Given the description of an element on the screen output the (x, y) to click on. 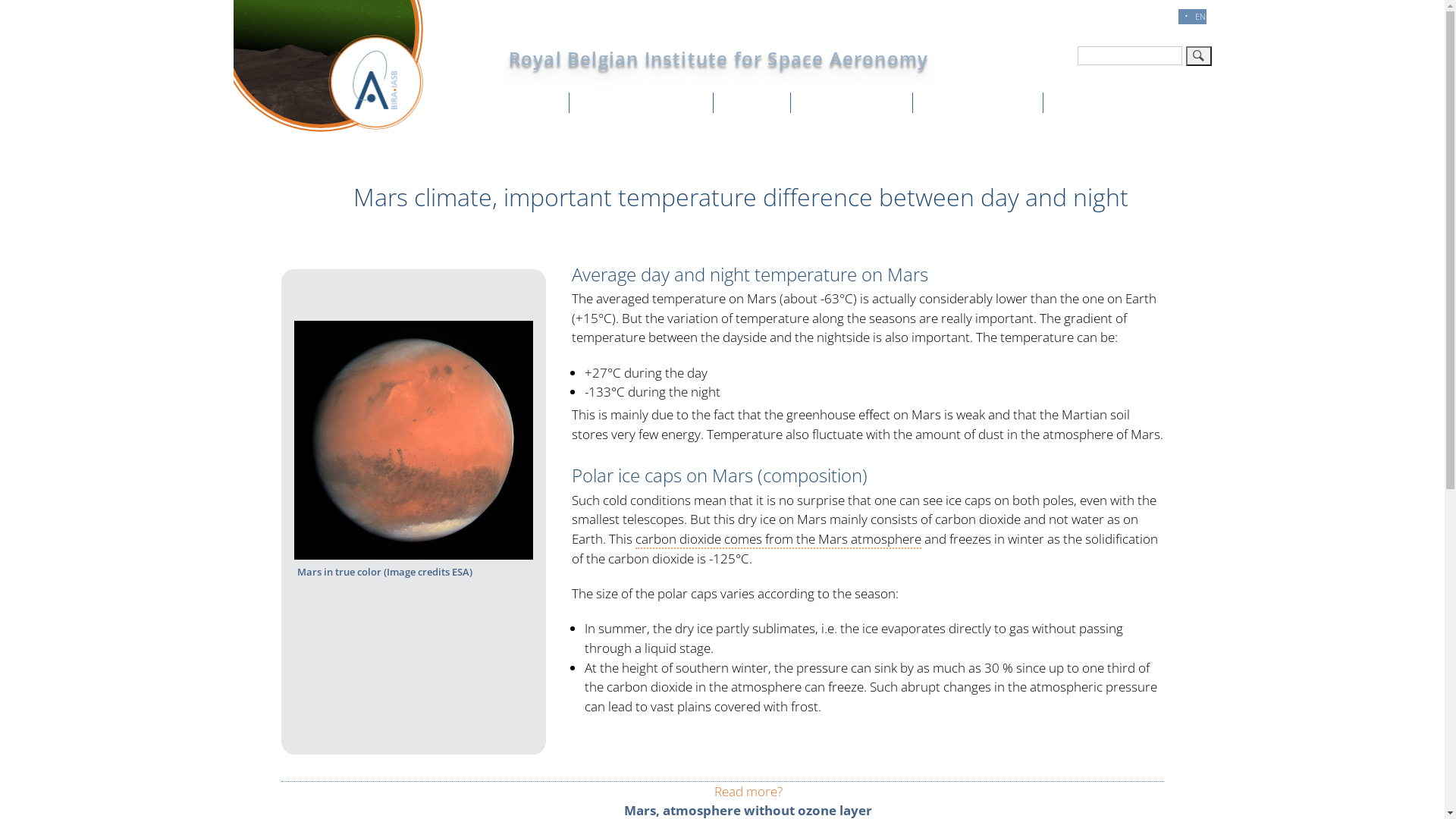
Data Element type: text (757, 100)
Annual report Element type: text (983, 100)
FR Element type: text (1167, 15)
About BIRA-IASB Element type: text (646, 100)
Enter the terms you wish to search for. Element type: hover (1128, 55)
Skip to main content Element type: text (0, 1)
Aeronomy explained Element type: text (1132, 100)
EN Element type: text (1200, 15)
Home Element type: text (531, 100)
Search Element type: text (1198, 55)
Publications Element type: text (856, 100)
carbon dioxide comes from the Mars atmosphere Element type: text (778, 539)
NL Element type: text (1134, 15)
